Given the description of an element on the screen output the (x, y) to click on. 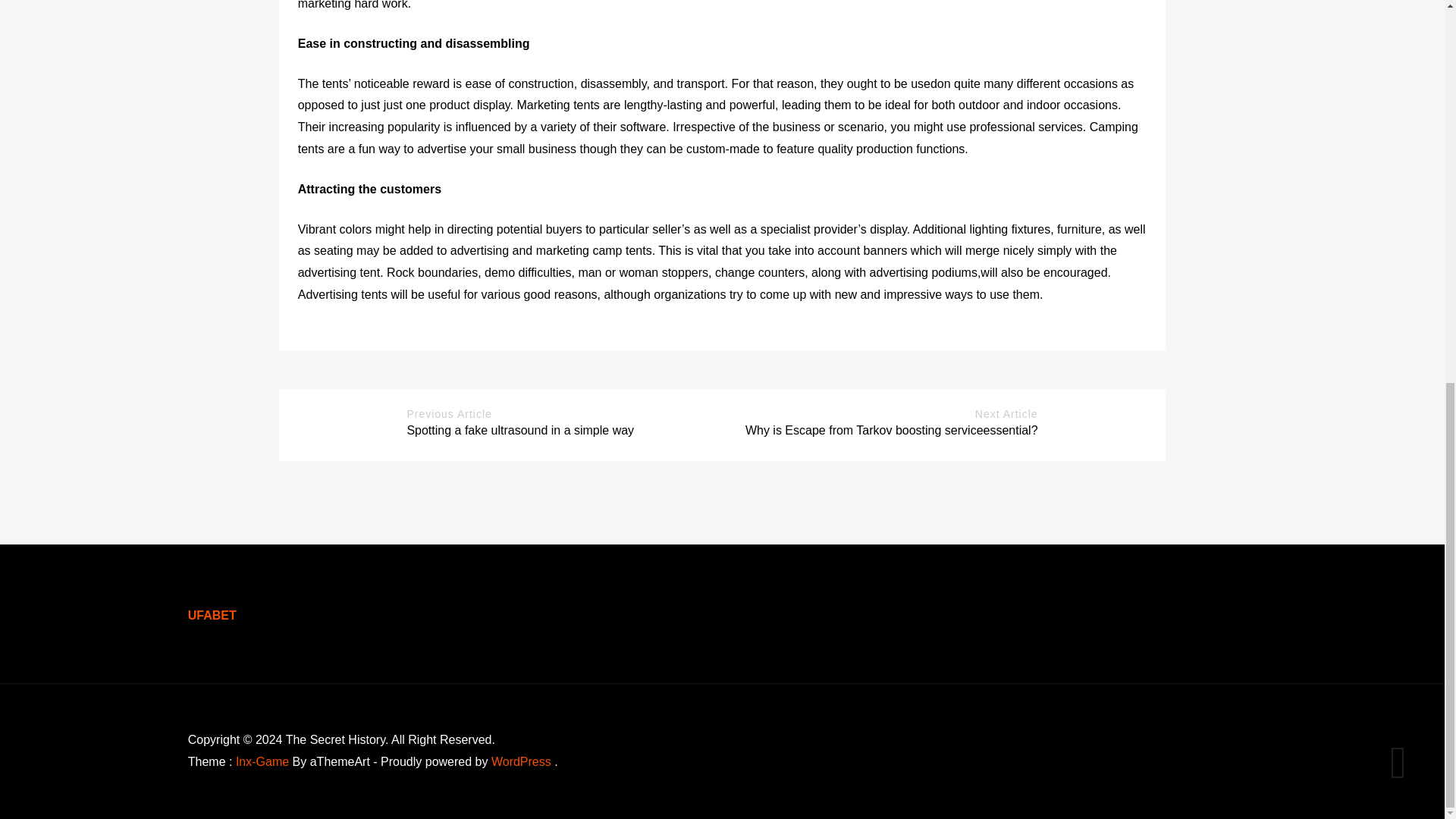
WordPress (521, 761)
Inx-Game (261, 761)
Spotting a fake ultrasound in a simple way (519, 430)
Why is Escape from Tarkov boosting serviceessential? (891, 430)
UFABET (211, 615)
